Given the description of an element on the screen output the (x, y) to click on. 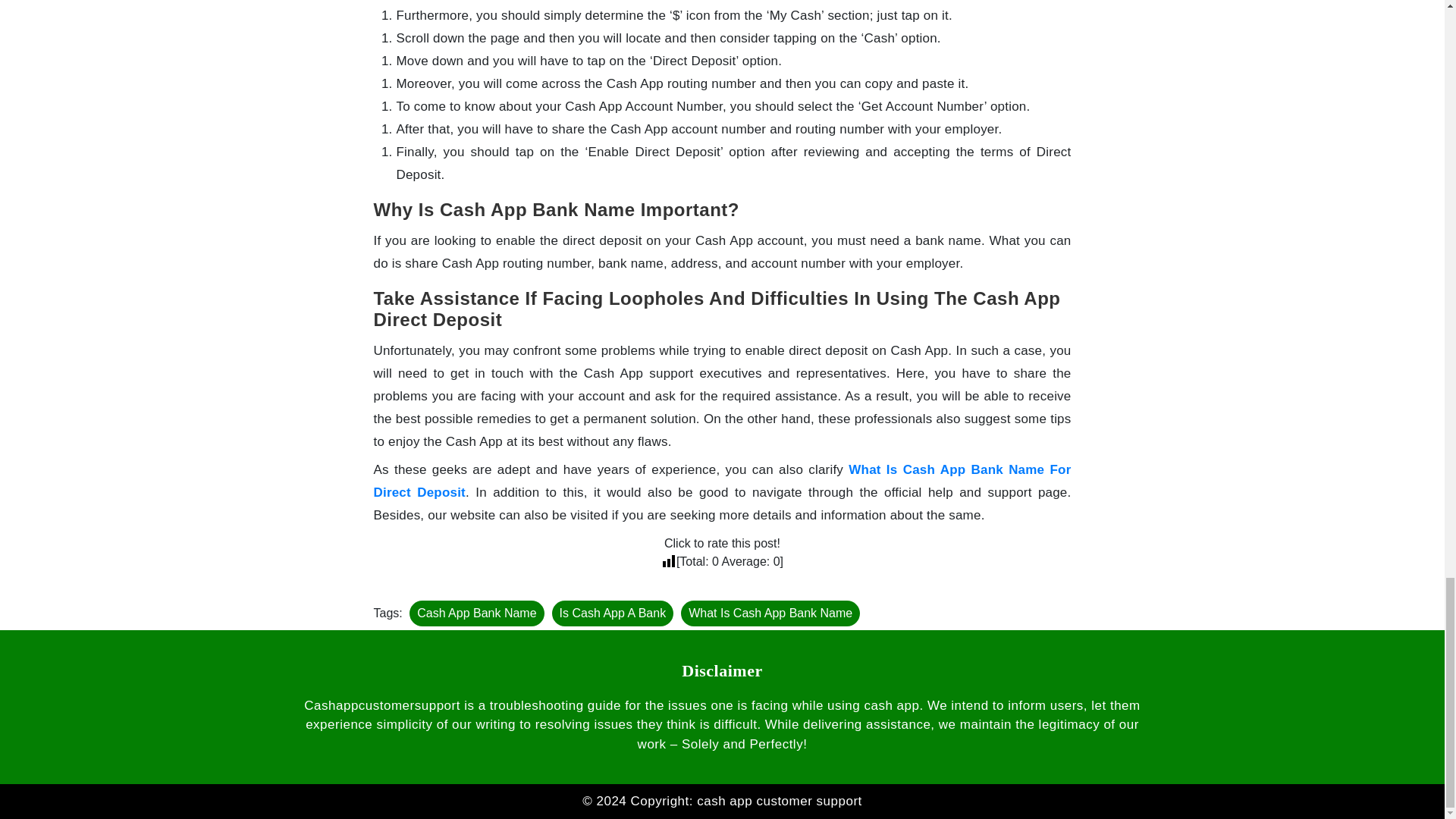
cash app customer support (779, 800)
What Is Cash App Bank Name (770, 613)
Cash App Bank Name (476, 613)
What Is Cash App Bank Name For Direct Deposit (721, 480)
Is Cash App A Bank (612, 613)
